Given the description of an element on the screen output the (x, y) to click on. 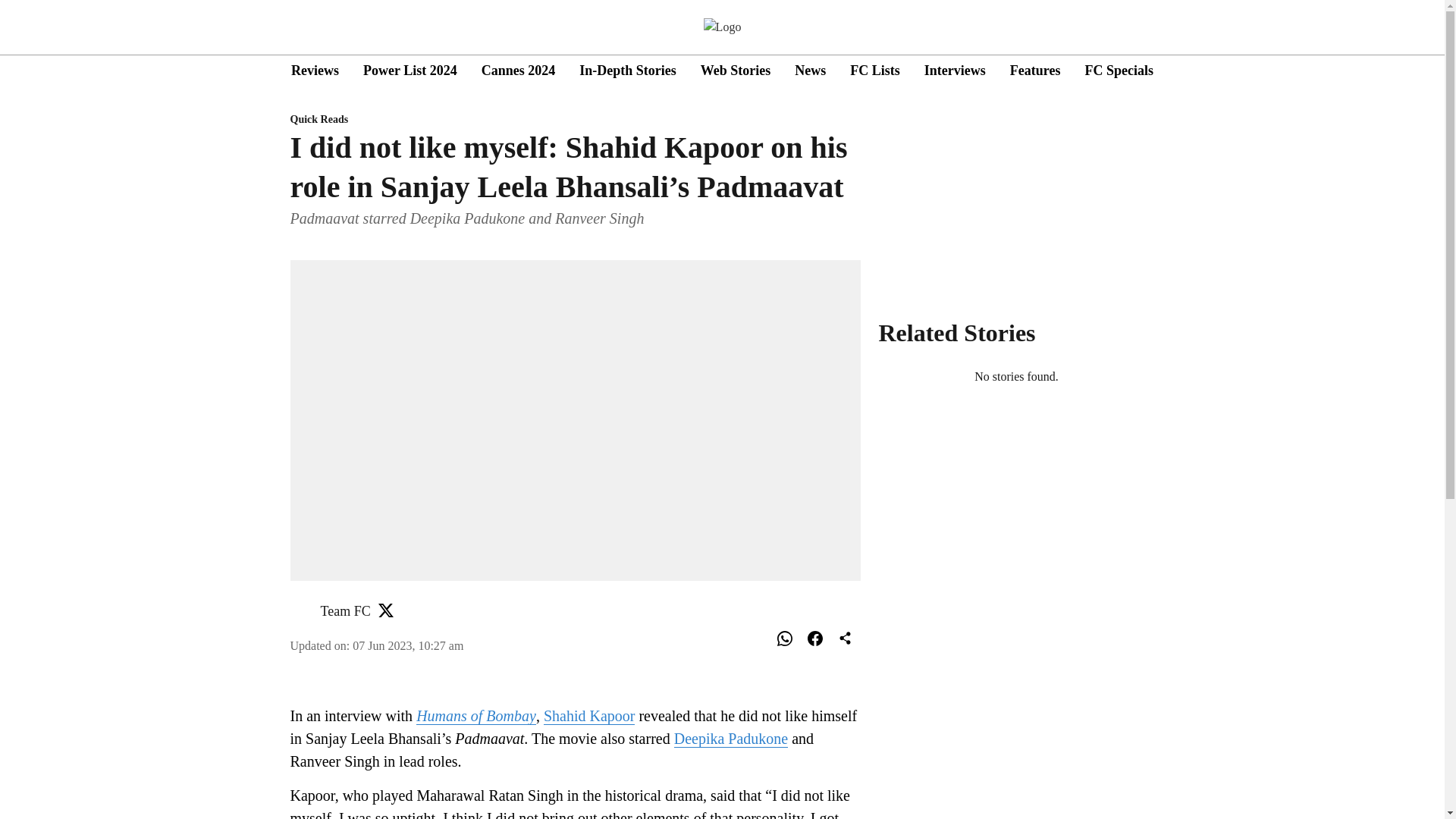
Team FC (344, 611)
Quick Reads (574, 119)
Reviews (315, 70)
Interviews (954, 70)
News (809, 70)
Features (1035, 70)
Power List 2024 (409, 70)
Cannes 2024 (518, 70)
FC Lists (874, 70)
In-Depth Stories (628, 70)
Web Stories (735, 70)
